Given the description of an element on the screen output the (x, y) to click on. 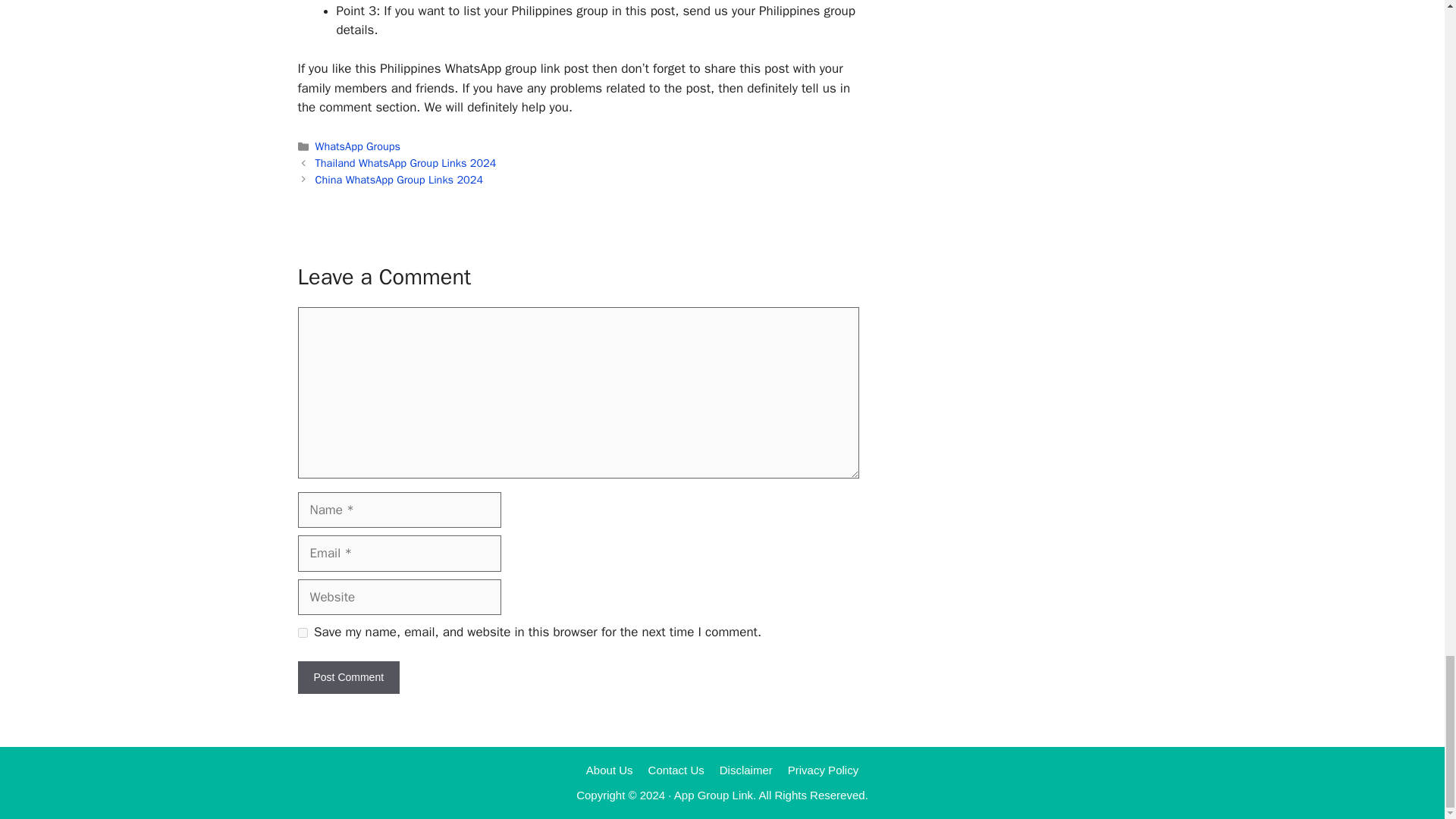
Next (399, 179)
Post Comment (347, 676)
yes (302, 633)
Previous (405, 162)
